Given the description of an element on the screen output the (x, y) to click on. 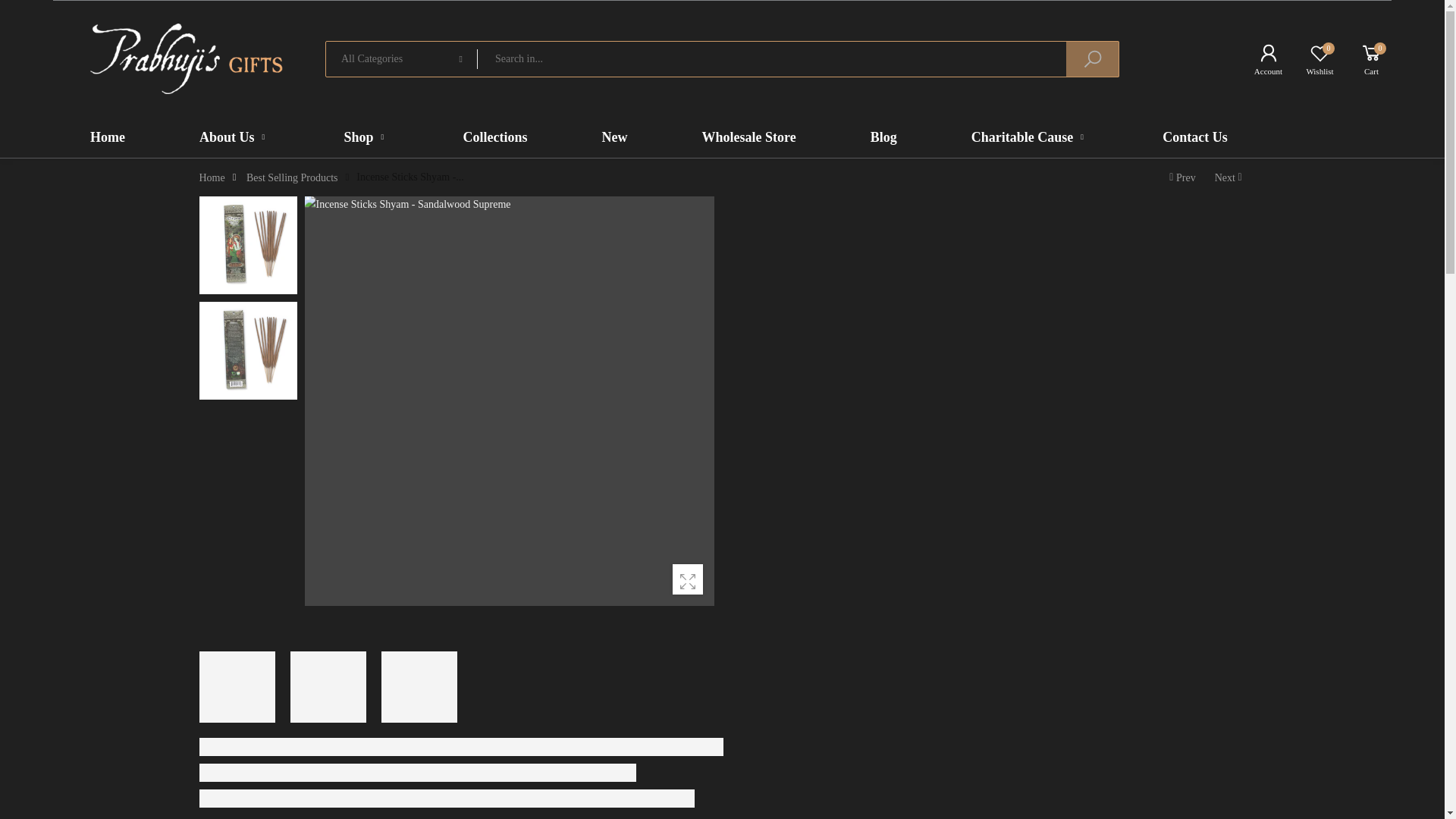
View large images in your viewport (687, 579)
Shop (365, 137)
Incense Sticks Matsya - Jasmine, Rose, and Tulasi (1230, 177)
Best Selling Products (291, 177)
Home (1313, 59)
About Us (211, 177)
Account (1365, 59)
